Given the description of an element on the screen output the (x, y) to click on. 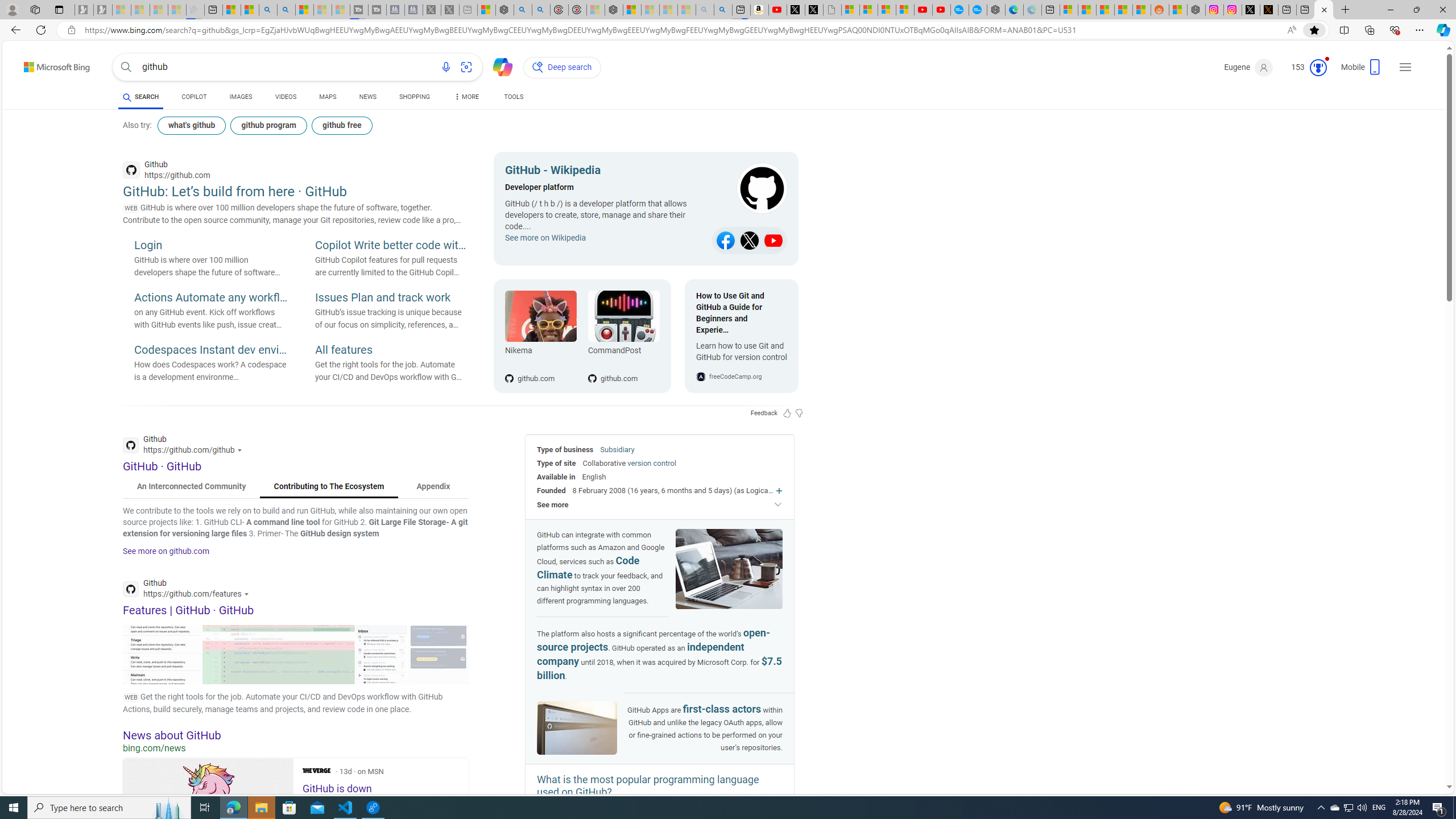
Search using an image (465, 66)
News about GitHub (295, 735)
VIDEOS (285, 96)
github program (268, 125)
Image of GitHub (577, 728)
Feedback Dislike (798, 412)
SHOPPING (414, 98)
Class: b_sitlk (773, 240)
